Given the description of an element on the screen output the (x, y) to click on. 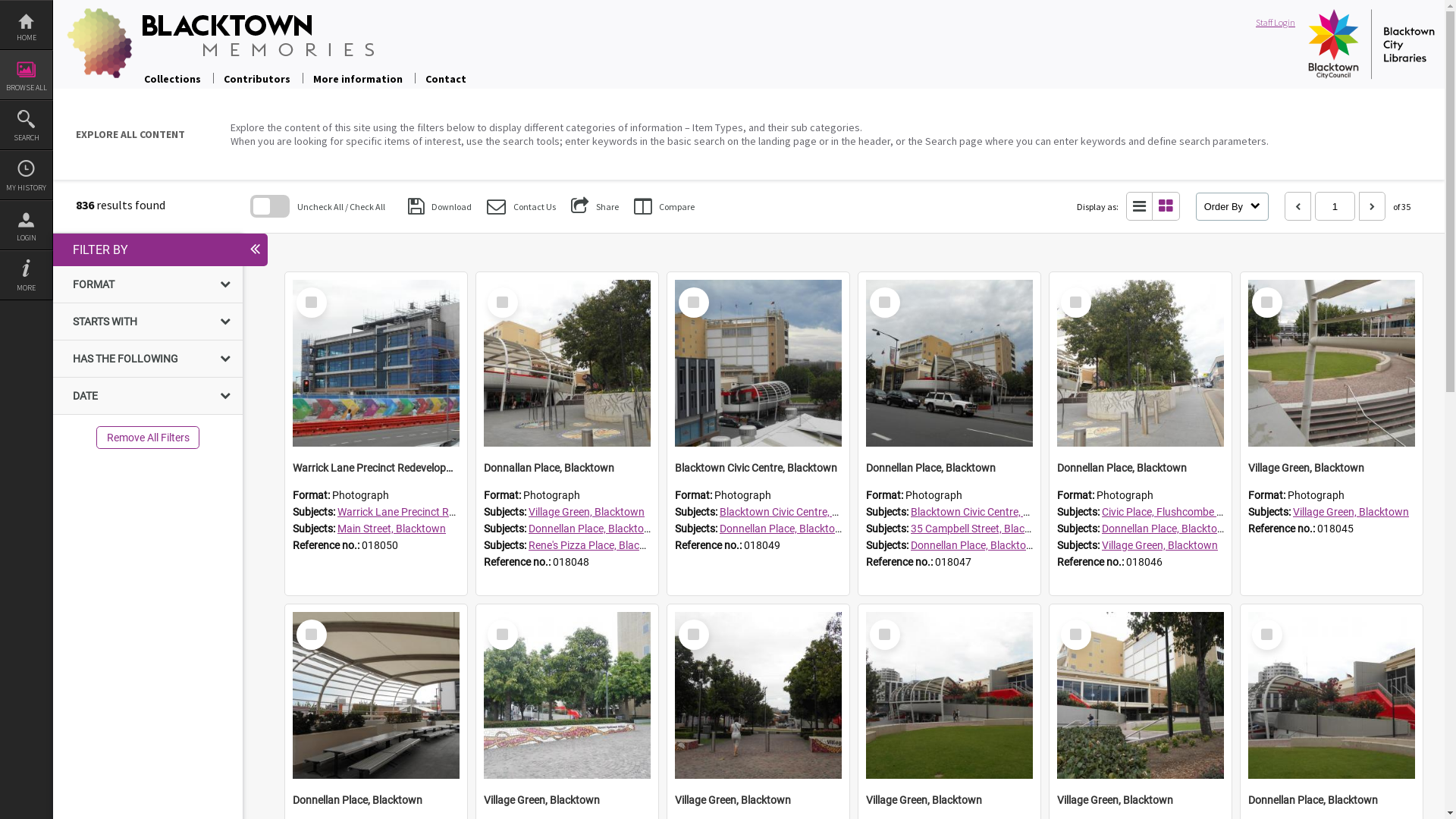
Donnellan Place, Blacktown Element type: text (949, 467)
Village Green, Blacktown  Element type: hover (757, 694)
Skip to search block Element type: text (52, 206)
Blacktown Civic Centre, Blacktown Element type: text (991, 511)
Donnellan Place, Blacktown Element type: text (1331, 799)
Donnellan Place, Blacktown Element type: text (375, 799)
Village Green, Blacktown Element type: text (757, 799)
Village Green, Blacktown Element type: text (566, 799)
BROWSE ALL Element type: text (26, 74)
Village Green, Blacktown Element type: text (1159, 545)
Donnellan Place, Blacktown Element type: hover (1140, 362)
Blacktown Civic Centre, Blacktown Element type: text (800, 511)
Blacktown Civic Centre, Blacktown Element type: hover (757, 362)
SEARCH Element type: text (26, 124)
Donnellan Place, Blacktown Element type: text (1166, 528)
Donnellan Place, Blacktown Element type: hover (1331, 694)
Staff Login Element type: text (1278, 21)
Donnellan Place, Blacktown Element type: text (975, 545)
Civic Place, Flushcombe Road, Blacktown Element type: text (1198, 511)
Main Street, Blacktown Element type: text (391, 528)
35 Campbell Street, Blacktown Element type: text (982, 528)
Warrick Lane Precinct Redevelopment, Blacktown Element type: text (453, 511)
Village Green, Blacktown Element type: hover (566, 694)
Donnellan Place, Blacktown Element type: text (784, 528)
Village Green, Blacktown Element type: text (586, 511)
HOME Element type: text (26, 24)
Order By Element type: text (1231, 206)
Warrick Lane Precinct Redevelopment, Blacktown Element type: text (375, 467)
Donnallan Place, Blacktown Element type: hover (566, 362)
Donnallan Place, Blacktown Element type: text (566, 467)
Village Green, Blacktown Element type: hover (1331, 362)
Village Green, Blacktown Element type: text (1331, 467)
Blacktown Civic Centre, Blacktown Element type: text (757, 467)
Rene's Pizza Place, Blacktown Element type: text (598, 545)
LOGIN Element type: text (26, 224)
MORE Element type: text (26, 275)
Donnellan Place, Blacktown Element type: text (593, 528)
Donnellan Place, Blacktown Element type: hover (949, 362)
Collections Element type: text (172, 78)
Village Green, Blacktown Element type: text (1140, 799)
Donnellan Place, Blacktown Element type: text (1140, 467)
Village Green, Blacktown Element type: hover (1140, 694)
Village Green, Blacktown Element type: text (1350, 511)
More information Element type: text (357, 78)
Village Green, Blacktown Element type: hover (949, 694)
Contributors Element type: text (256, 78)
Village Green, Blacktown Element type: text (949, 799)
Warrick Lane Precinct Redevelopment, Blacktown Element type: hover (375, 362)
Donnellan Place, Blacktown Element type: hover (375, 694)
MY HISTORY Element type: text (26, 174)
Contact Element type: text (445, 78)
